Given the description of an element on the screen output the (x, y) to click on. 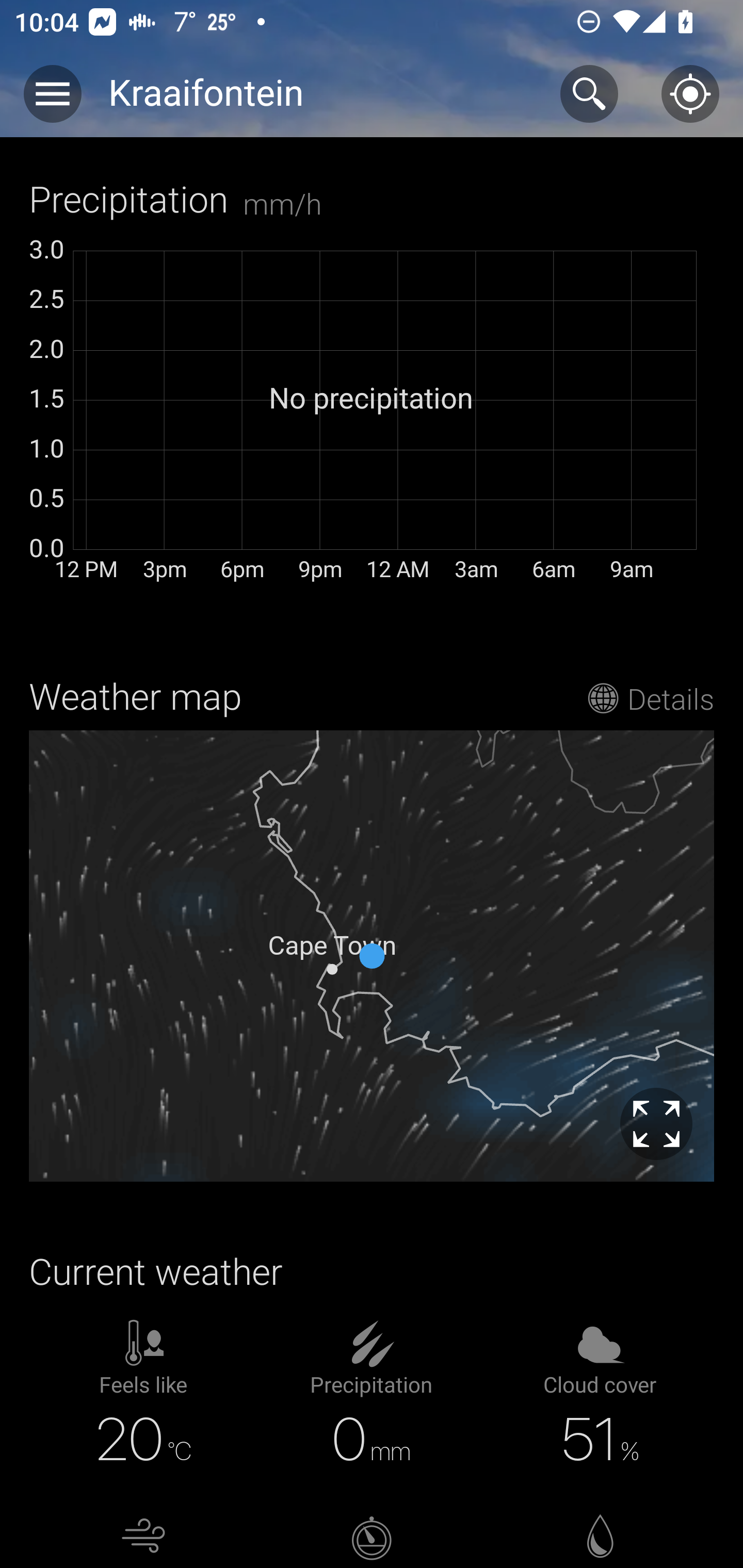
Precipitation mm (155, 88)
